Given the description of an element on the screen output the (x, y) to click on. 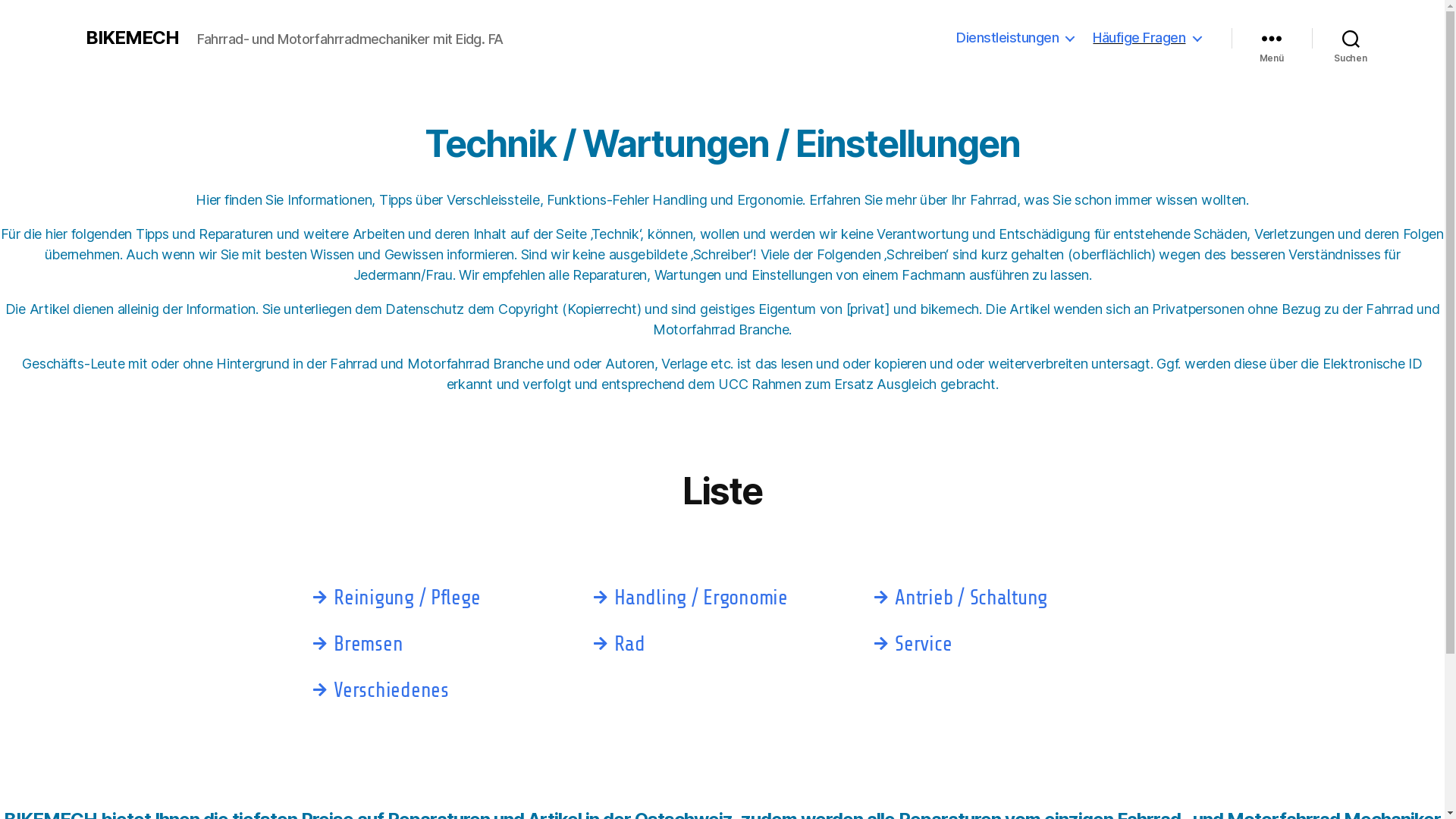
BIKEMECH Element type: text (131, 37)
Dienstleistungen Element type: text (1014, 37)
Suchen Element type: text (1350, 37)
